Given the description of an element on the screen output the (x, y) to click on. 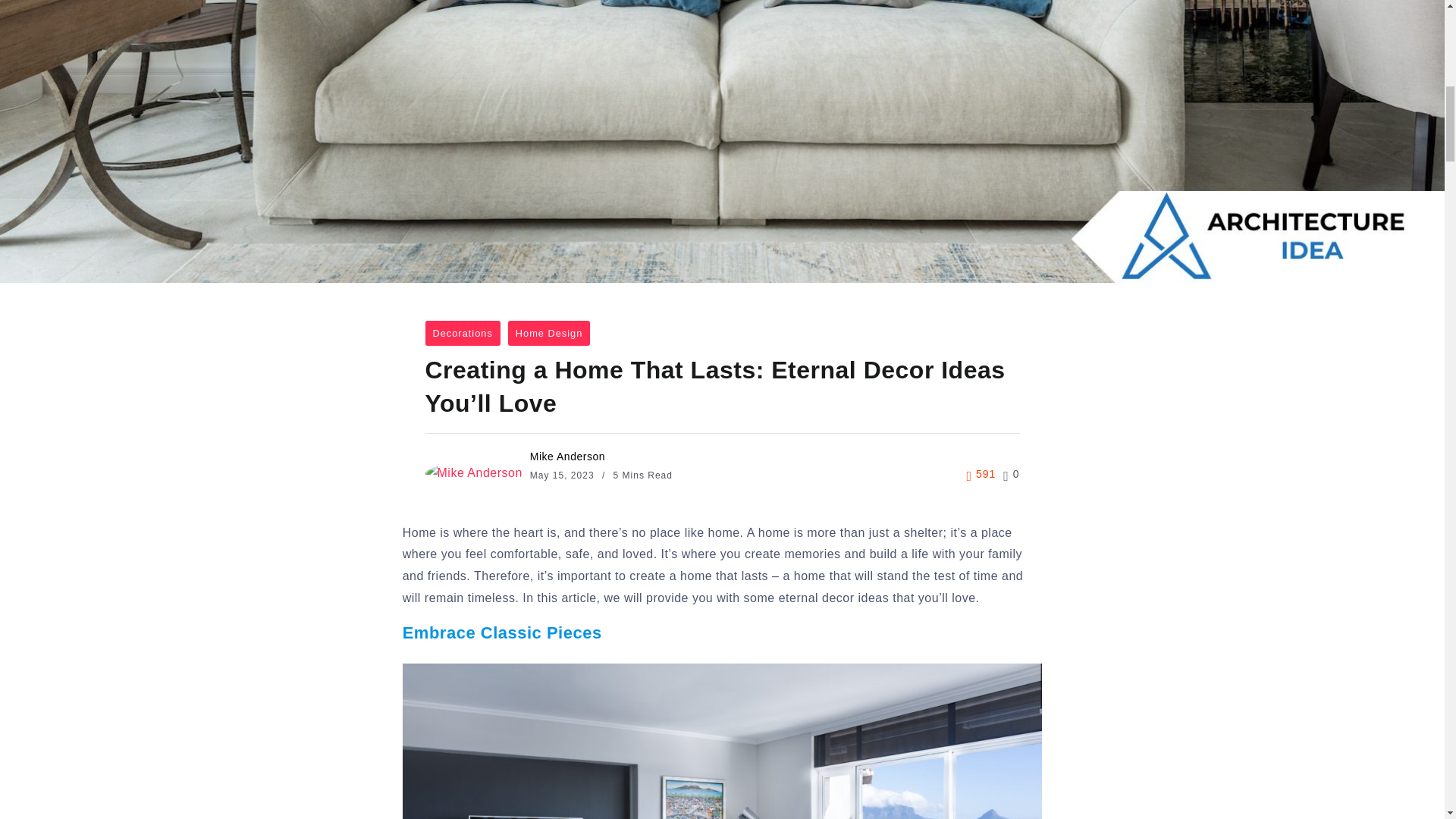
Decorations (462, 332)
Home Design (549, 332)
Views (980, 474)
